Given the description of an element on the screen output the (x, y) to click on. 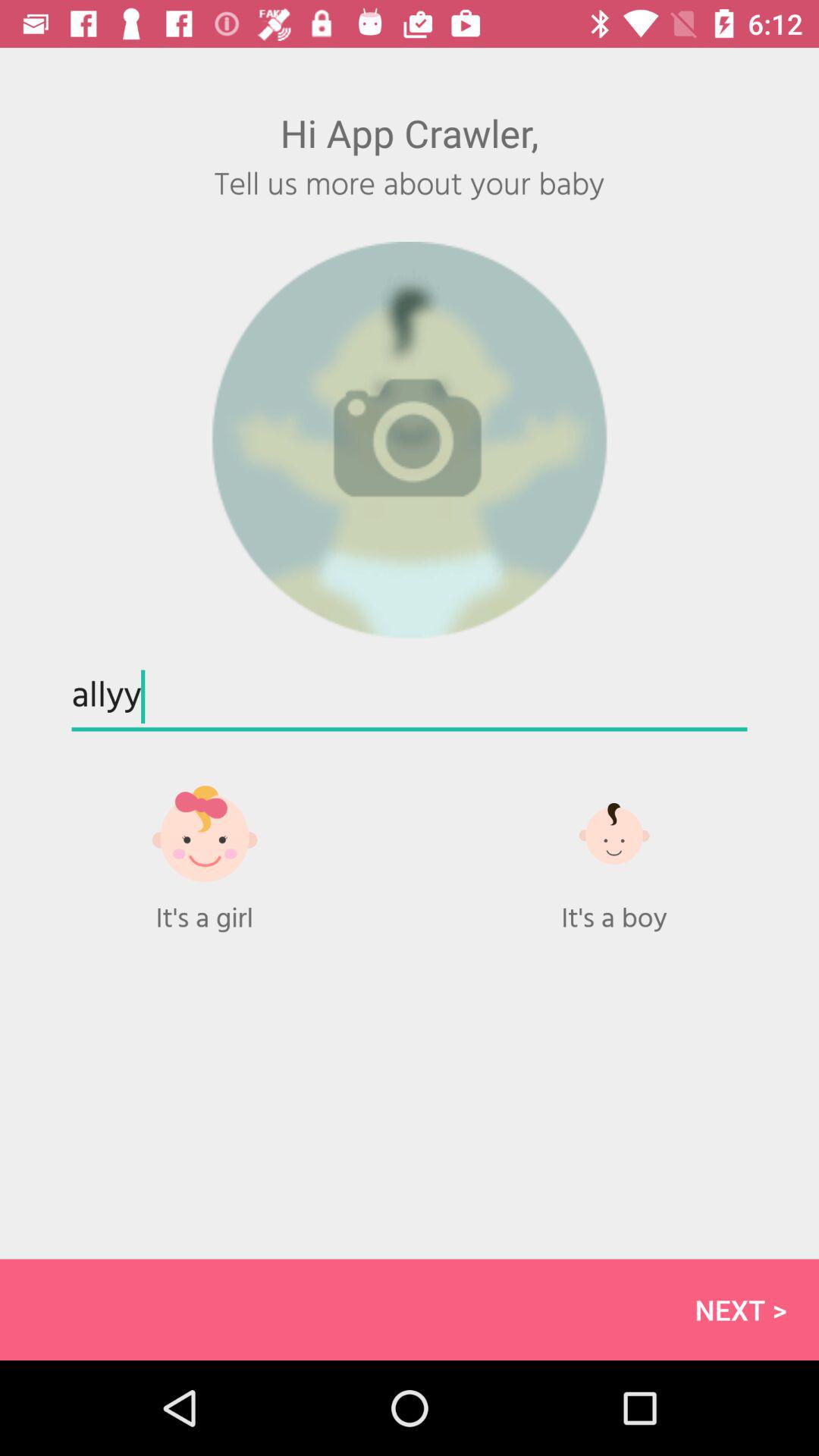
choose next > icon (409, 1309)
